Given the description of an element on the screen output the (x, y) to click on. 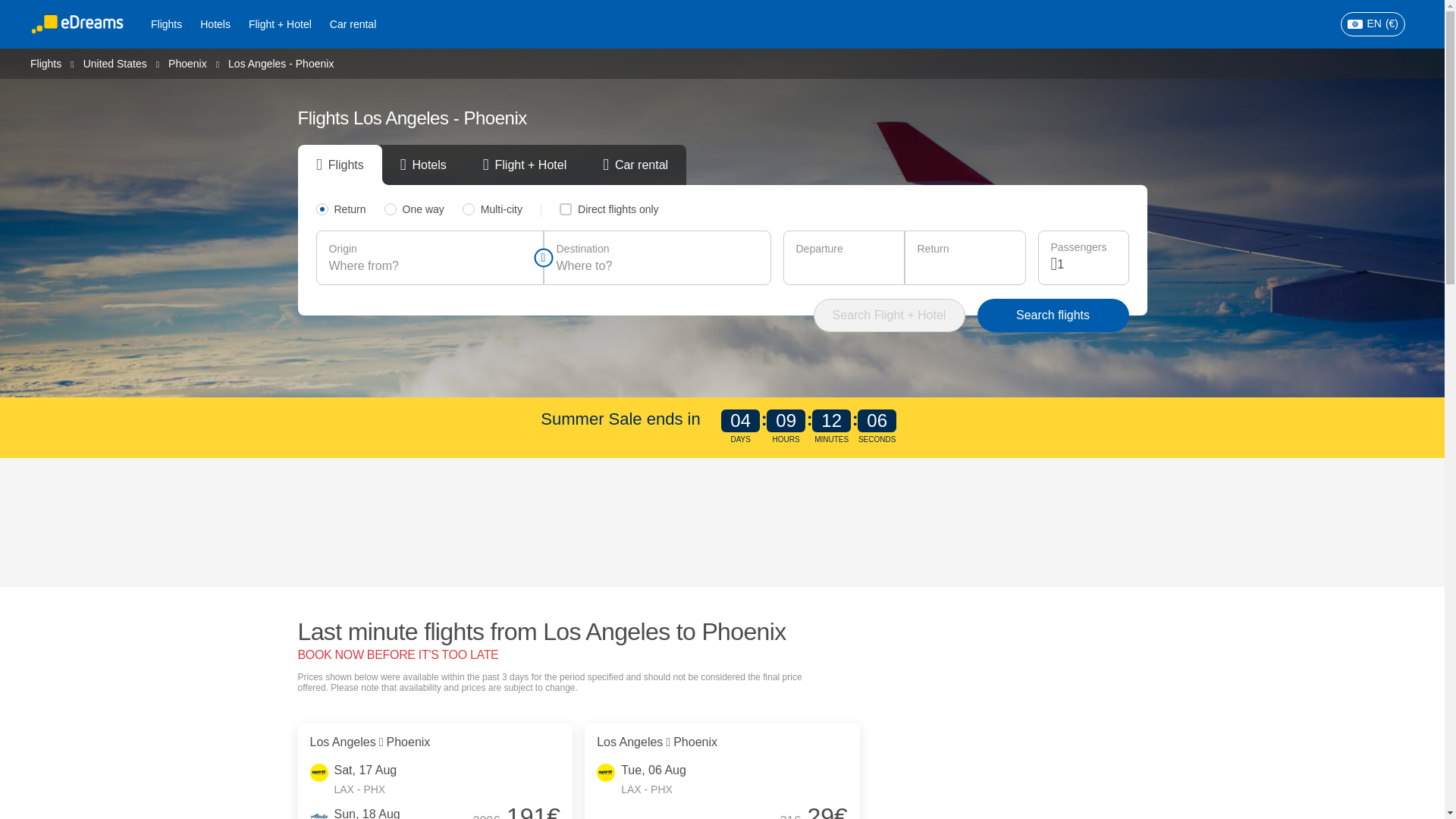
Phoenix (187, 62)
Hotels (215, 24)
1 (1086, 263)
United States (114, 62)
Car rental (352, 24)
Los Angeles - Phoenix (280, 63)
3rd party ad content (722, 522)
Flights (165, 24)
Flights (45, 62)
